Given the description of an element on the screen output the (x, y) to click on. 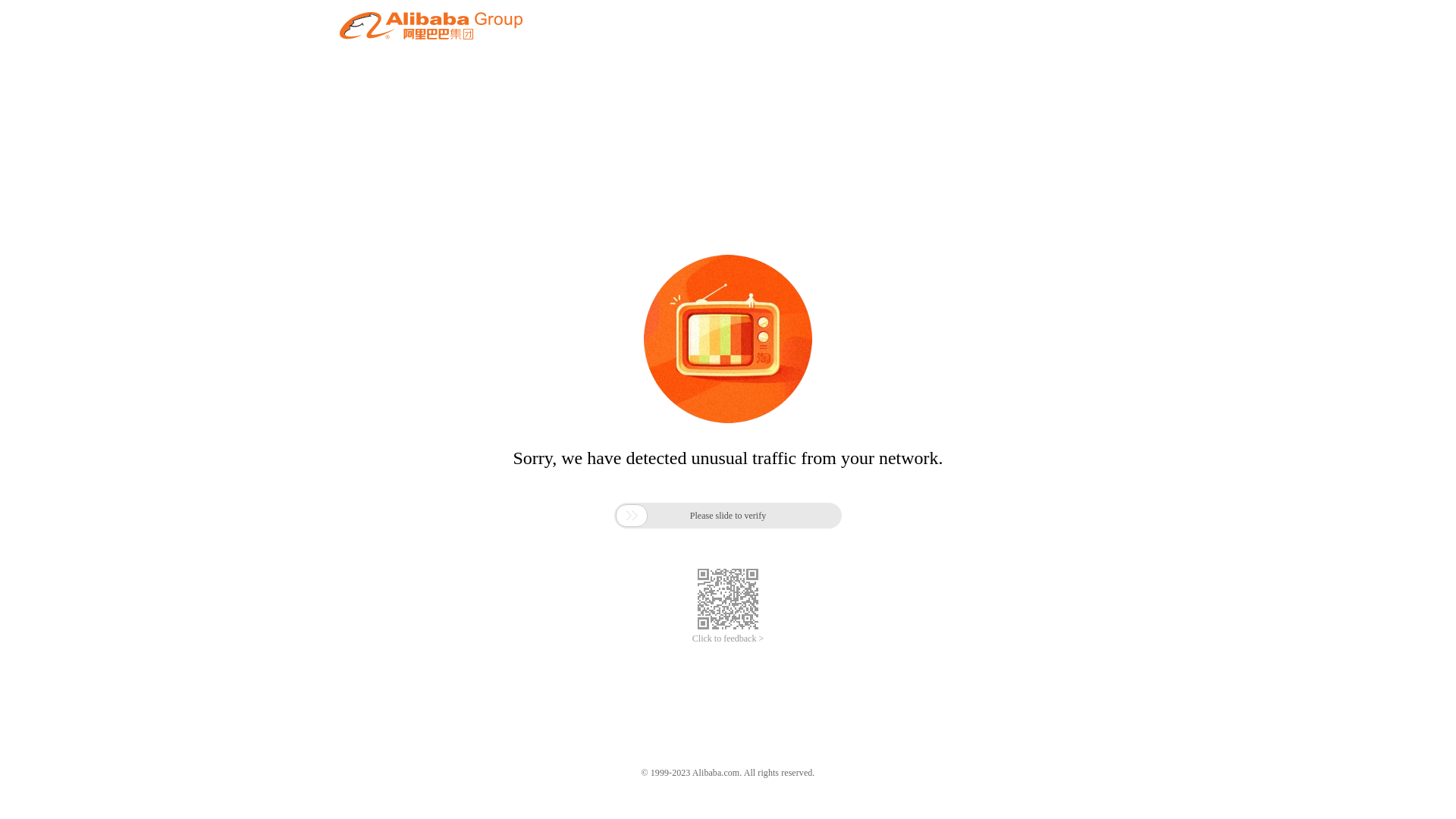
Click to feedback > Element type: text (727, 638)
